Given the description of an element on the screen output the (x, y) to click on. 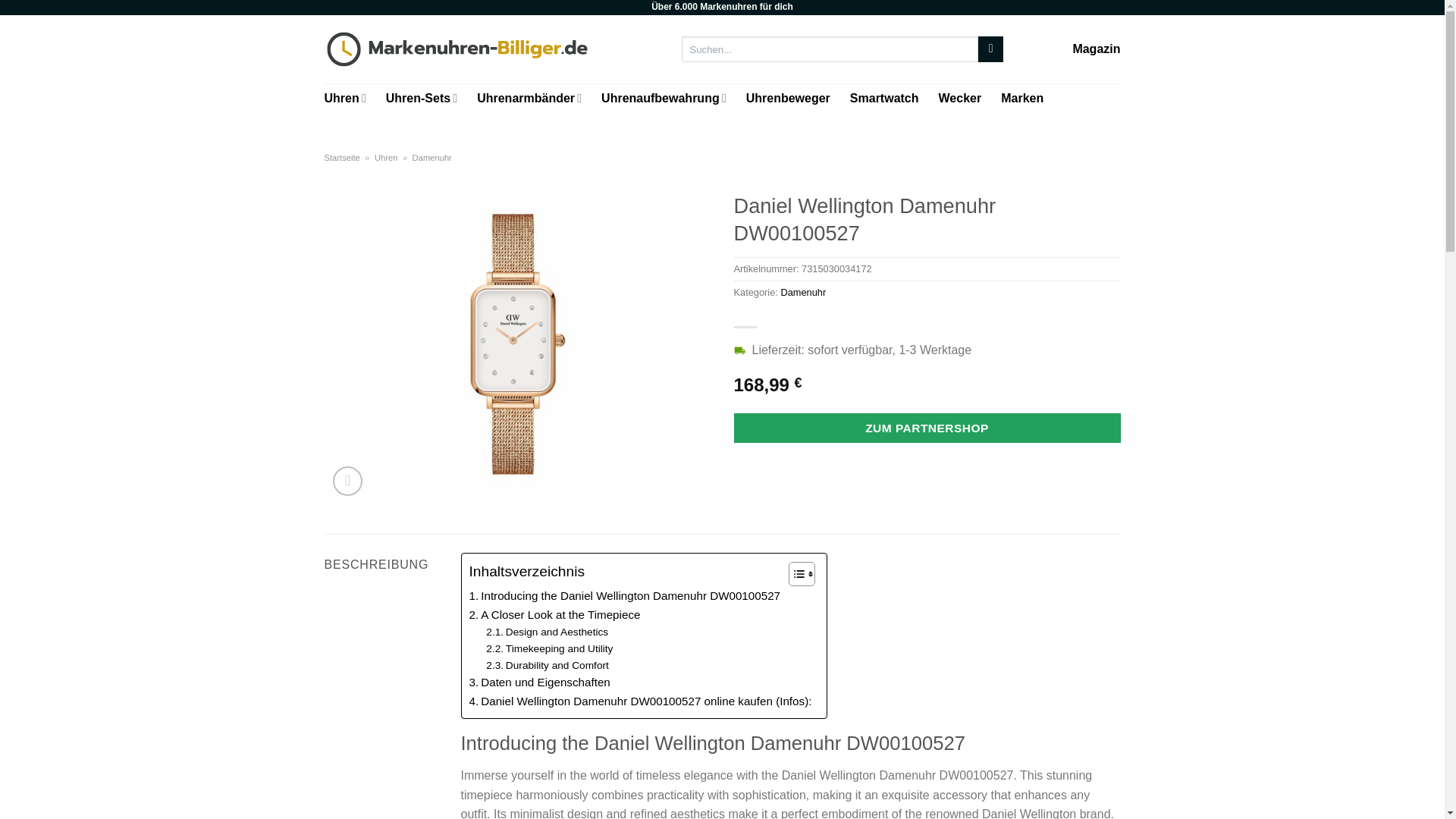
A Closer Look at the Timepiece (554, 614)
Durability and Comfort (547, 665)
Uhrenbeweger (787, 98)
Timekeeping and Utility (549, 648)
Smartwatch (884, 98)
Uhrenaufbewahrung (663, 98)
Daten und Eigenschaften (539, 682)
Introducing the Daniel Wellington Damenuhr DW00100527 (624, 596)
Zoom (347, 481)
Magazin (1095, 49)
Uhren-Sets (421, 98)
Suche (990, 49)
Design and Aesthetics (547, 632)
Marken (1022, 98)
Wecker (960, 98)
